Given the description of an element on the screen output the (x, y) to click on. 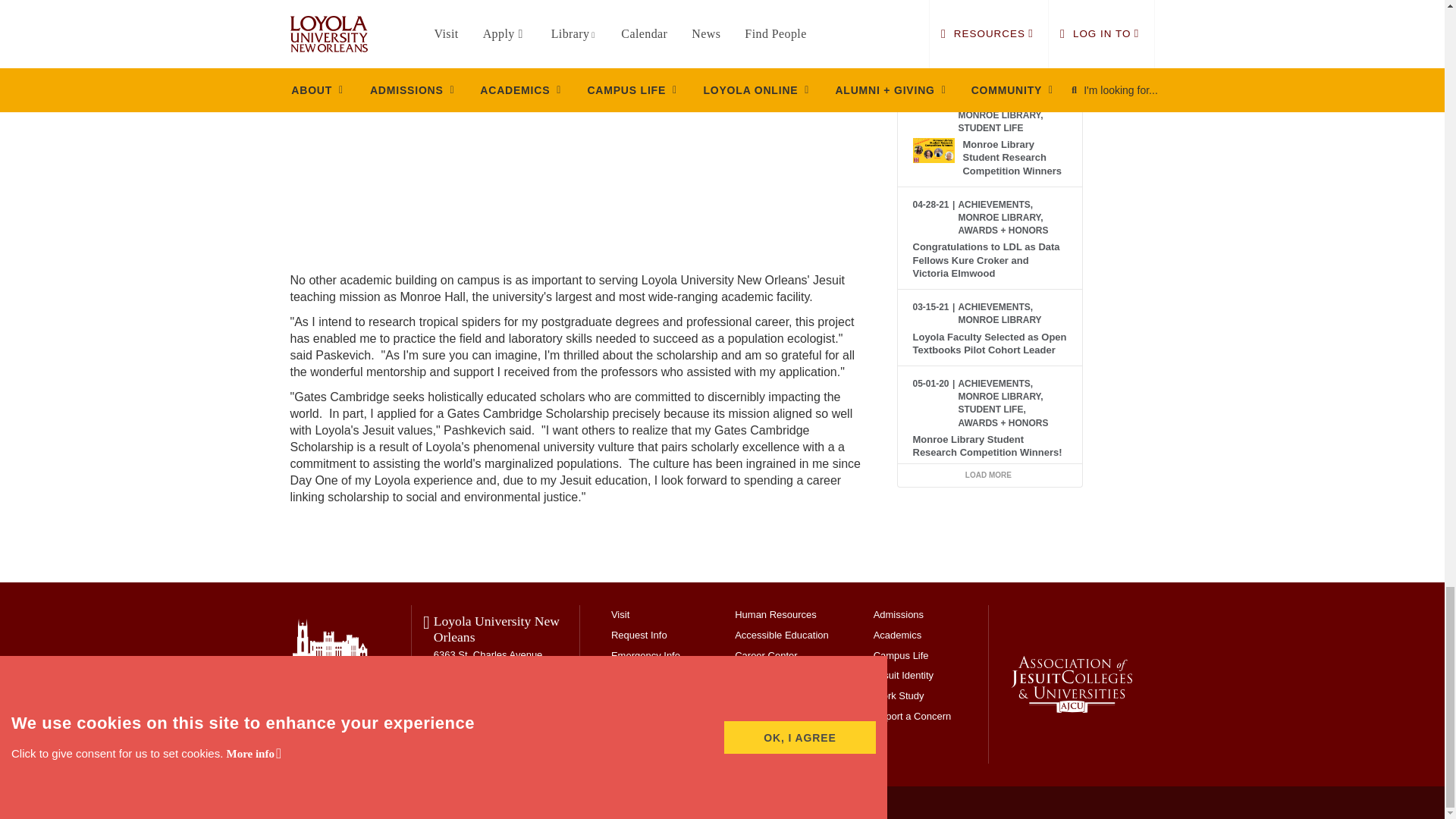
Privacy (482, 802)
Sitemap (520, 802)
